Given the description of an element on the screen output the (x, y) to click on. 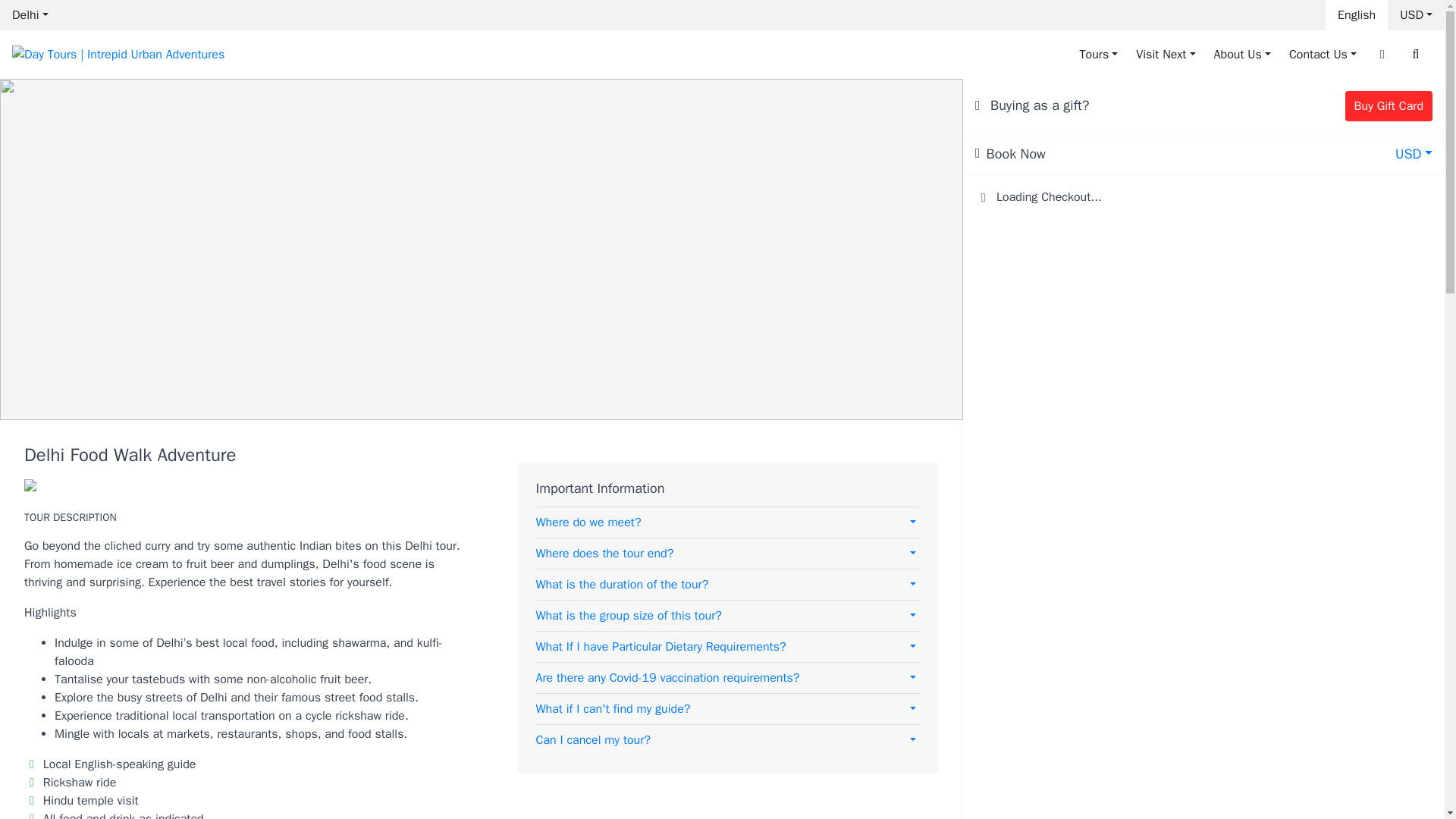
Delhi (30, 15)
